Given the description of an element on the screen output the (x, y) to click on. 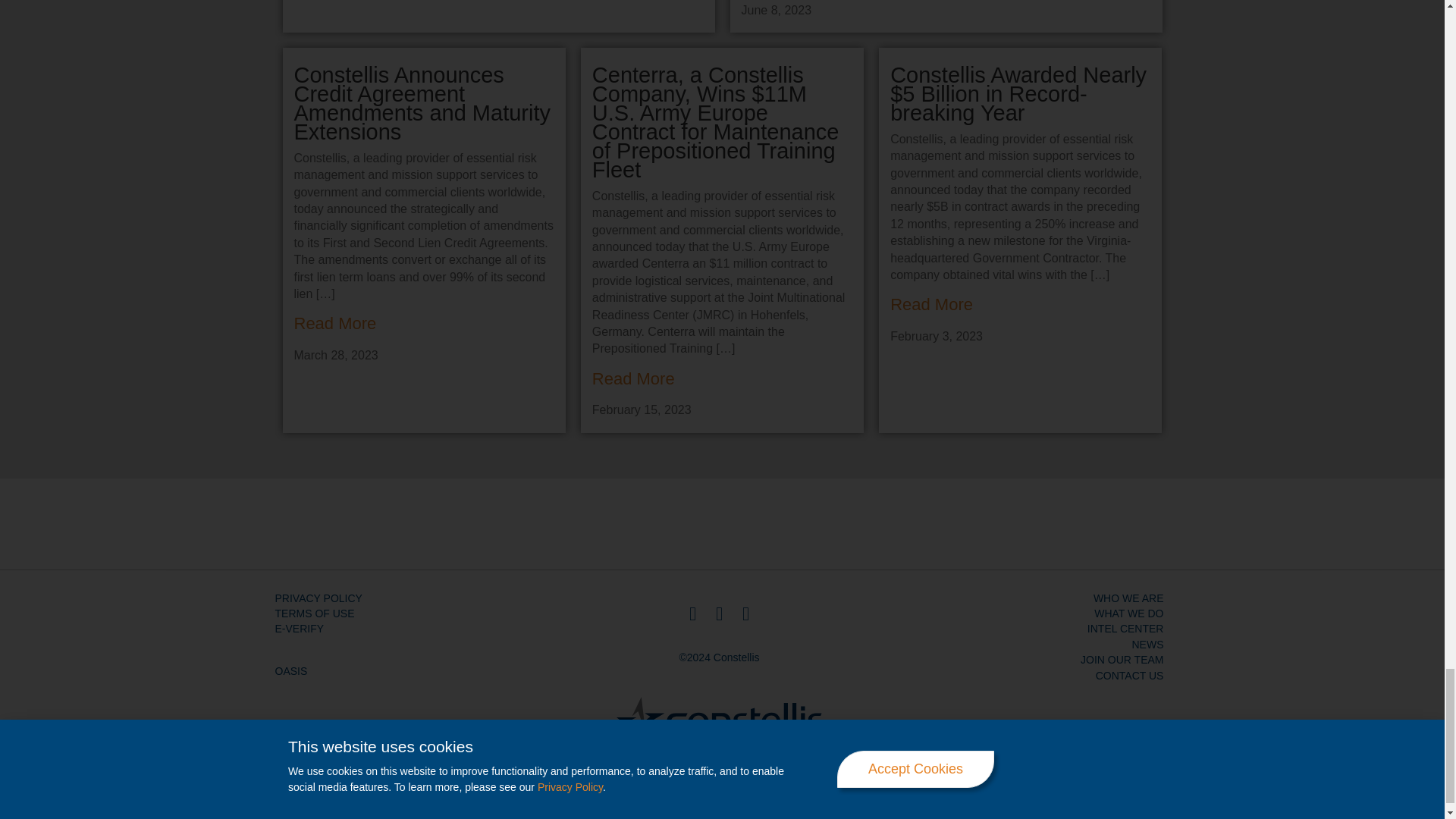
Full Color Constellis Logo (718, 717)
